Given the description of an element on the screen output the (x, y) to click on. 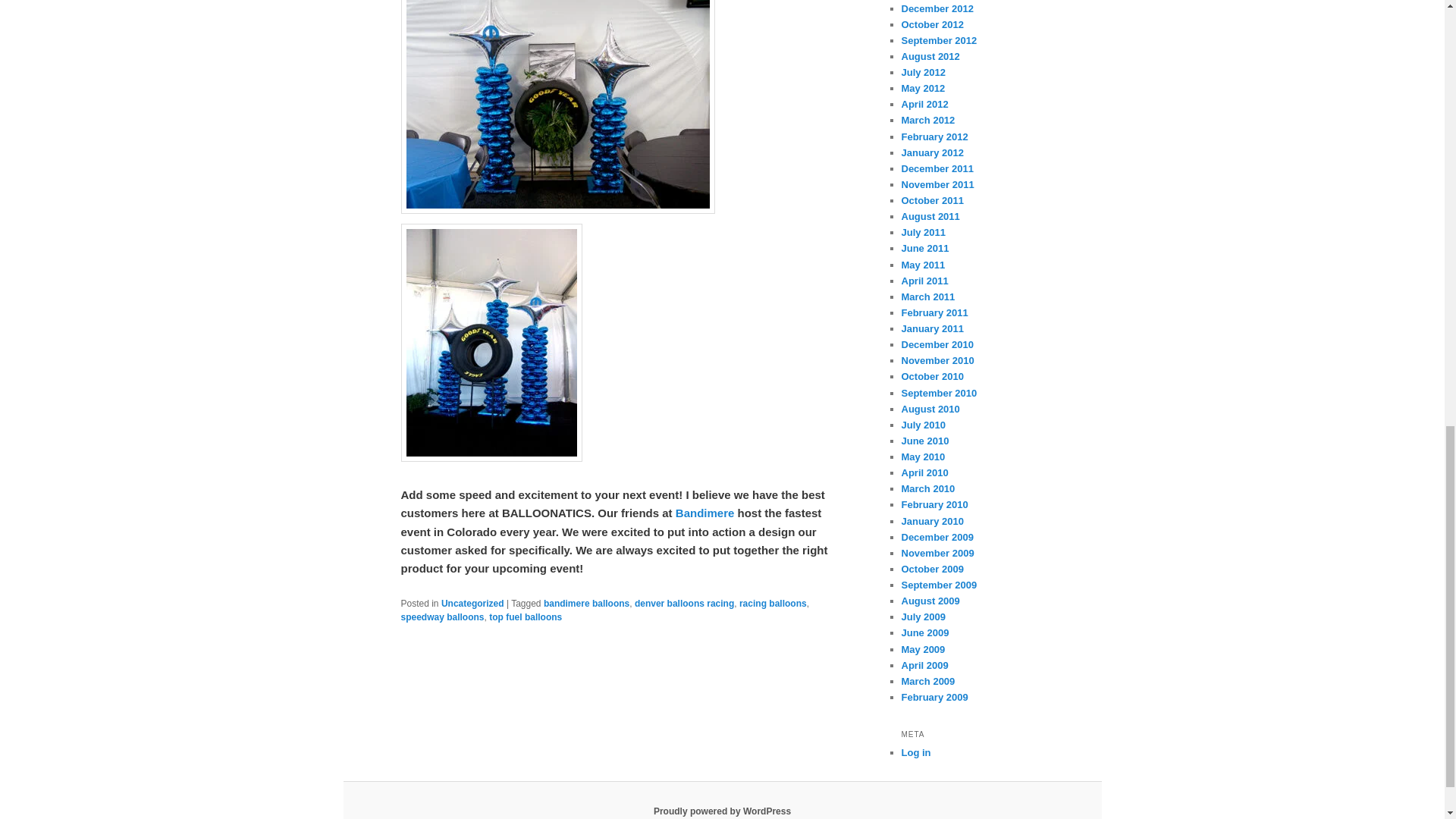
top fuel balloons (525, 616)
Uncategorized (472, 603)
bandimere balloons (585, 603)
racing balloons (772, 603)
Semantic Personal Publishing Platform (721, 810)
denver balloons racing (683, 603)
Bandimere (705, 512)
speedway balloons (441, 616)
